Given the description of an element on the screen output the (x, y) to click on. 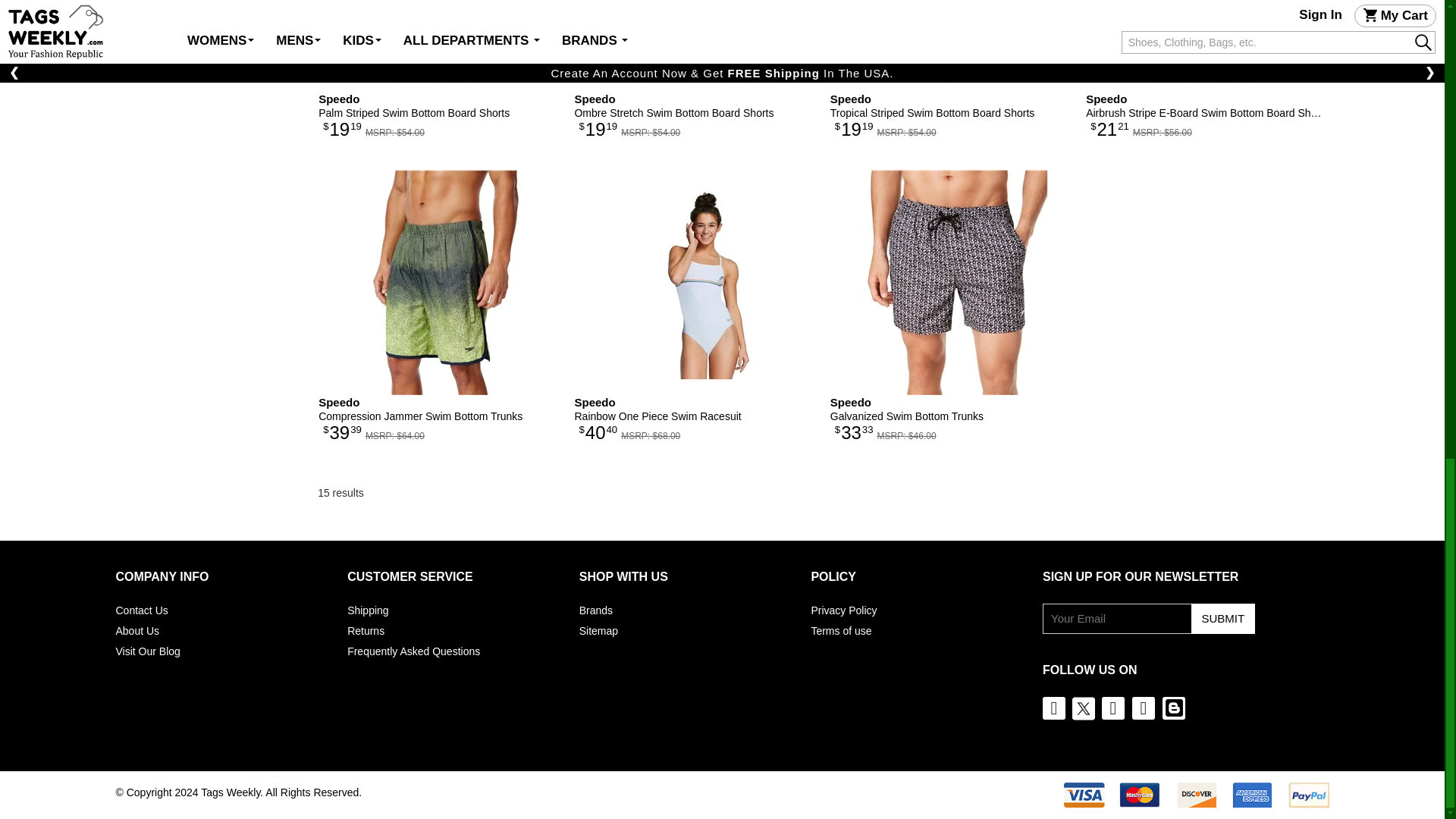
Submit (1223, 618)
